Given the description of an element on the screen output the (x, y) to click on. 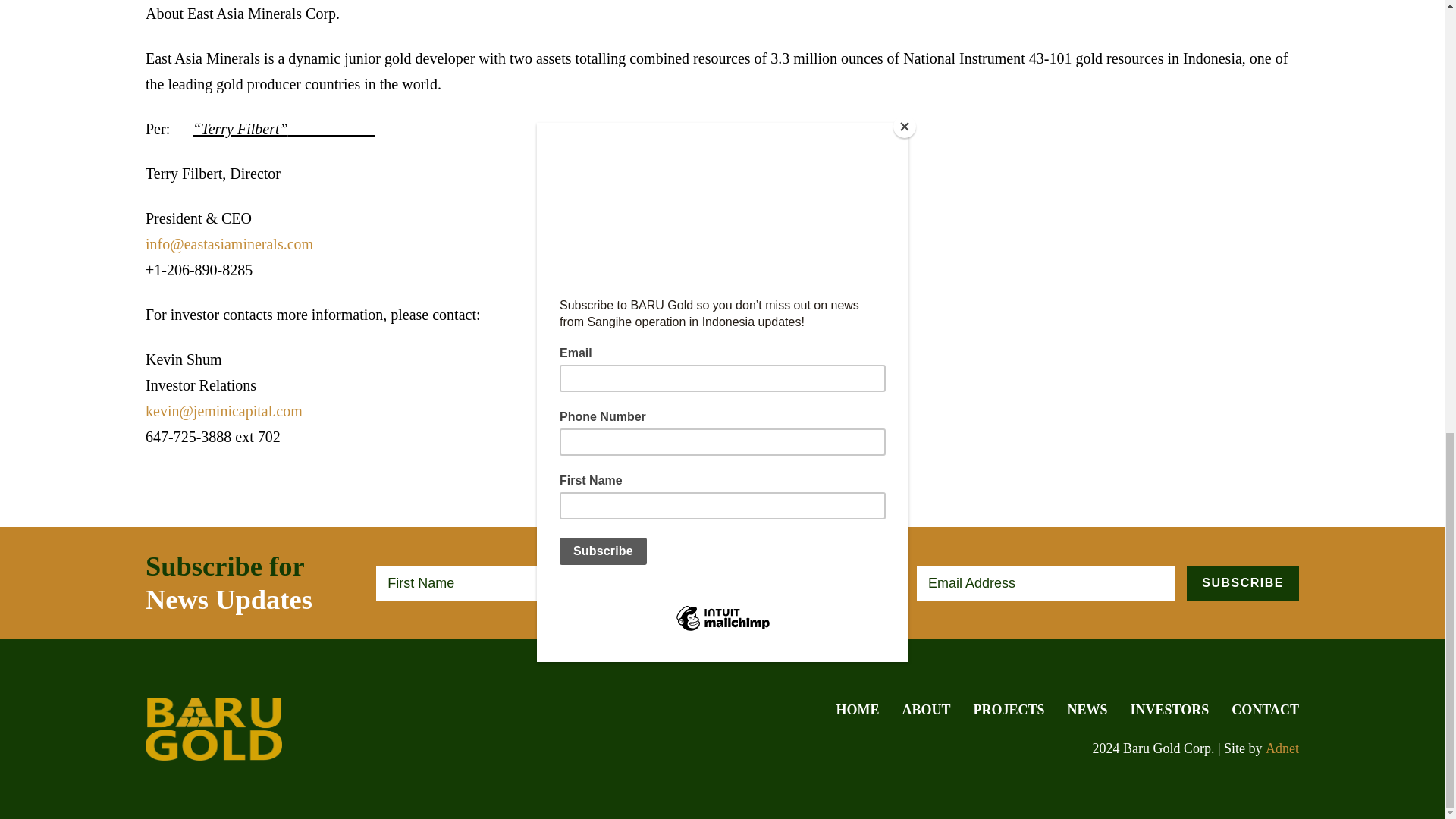
PROJECTS (1009, 709)
Adnet (1281, 748)
ABOUT (926, 709)
HOME (857, 709)
Subscribe (1242, 582)
CONTACT (1264, 709)
Subscribe (1242, 582)
INVESTORS (1170, 709)
NEWS (1087, 709)
